Given the description of an element on the screen output the (x, y) to click on. 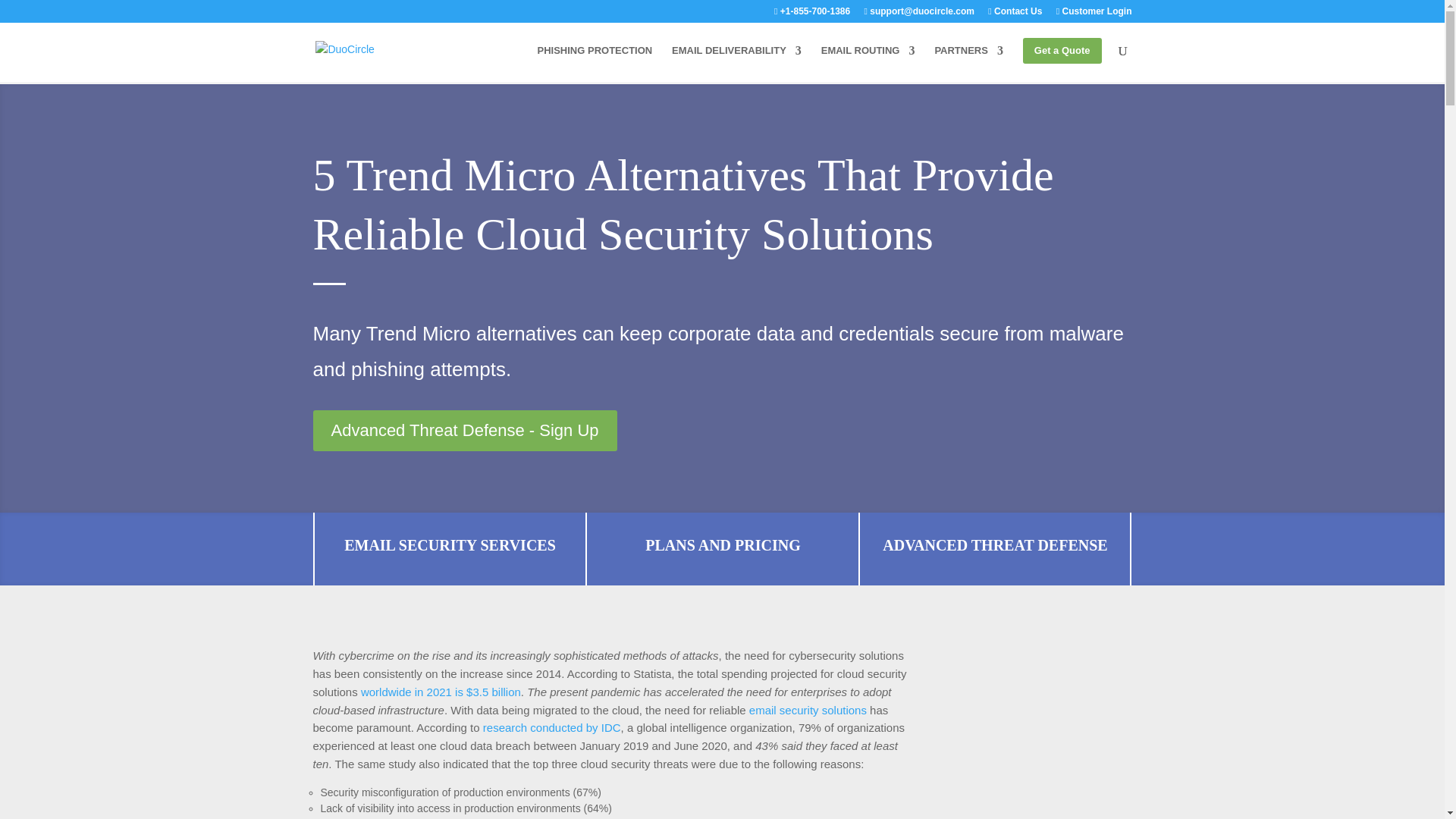
Get a Quote (1062, 59)
email security solutions (807, 709)
PHISHING PROTECTION (594, 60)
Customer Login (1094, 14)
PLANS AND PRICING (722, 545)
research conducted by IDC (552, 727)
Contact Us (1015, 14)
EMAIL SECURITY SERVICES (449, 545)
EMAIL DELIVERABILITY (736, 60)
ADVANCED THREAT DEFENSE (994, 545)
EMAIL ROUTING (868, 60)
PARTNERS (968, 60)
Advanced Threat Defense - Sign Up (464, 431)
